Given the description of an element on the screen output the (x, y) to click on. 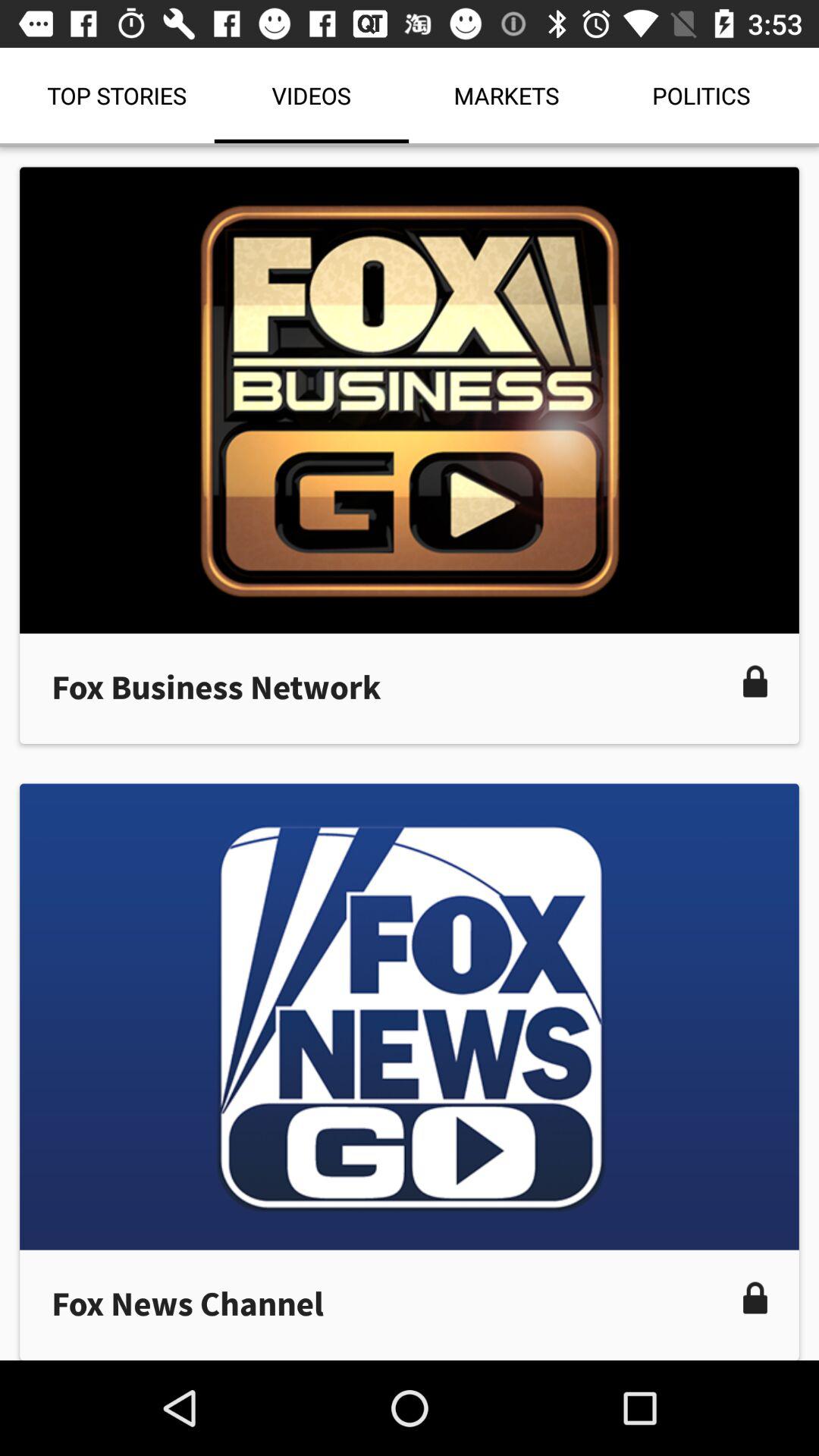
click on the image which has the text fox business network (409, 455)
